Given the description of an element on the screen output the (x, y) to click on. 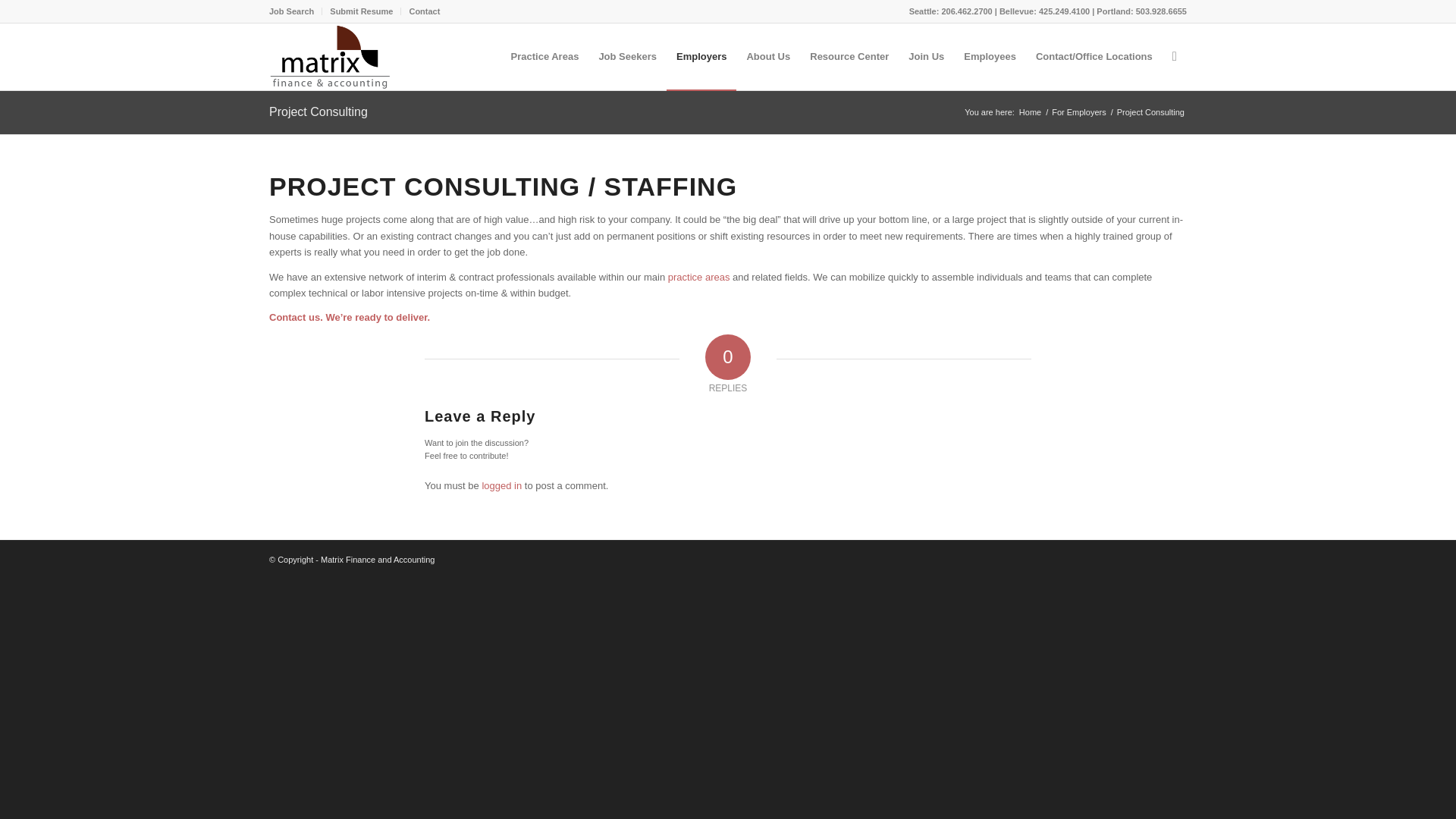
Permanent Link: Project Consulting (318, 111)
Employees (989, 56)
Practice Areas (699, 276)
Contact (424, 11)
About Us (767, 56)
Practice Areas (544, 56)
Employers (701, 56)
Job Seekers (627, 56)
Matrix Finance and Accounting (1029, 112)
Resource Center (848, 56)
